Given the description of an element on the screen output the (x, y) to click on. 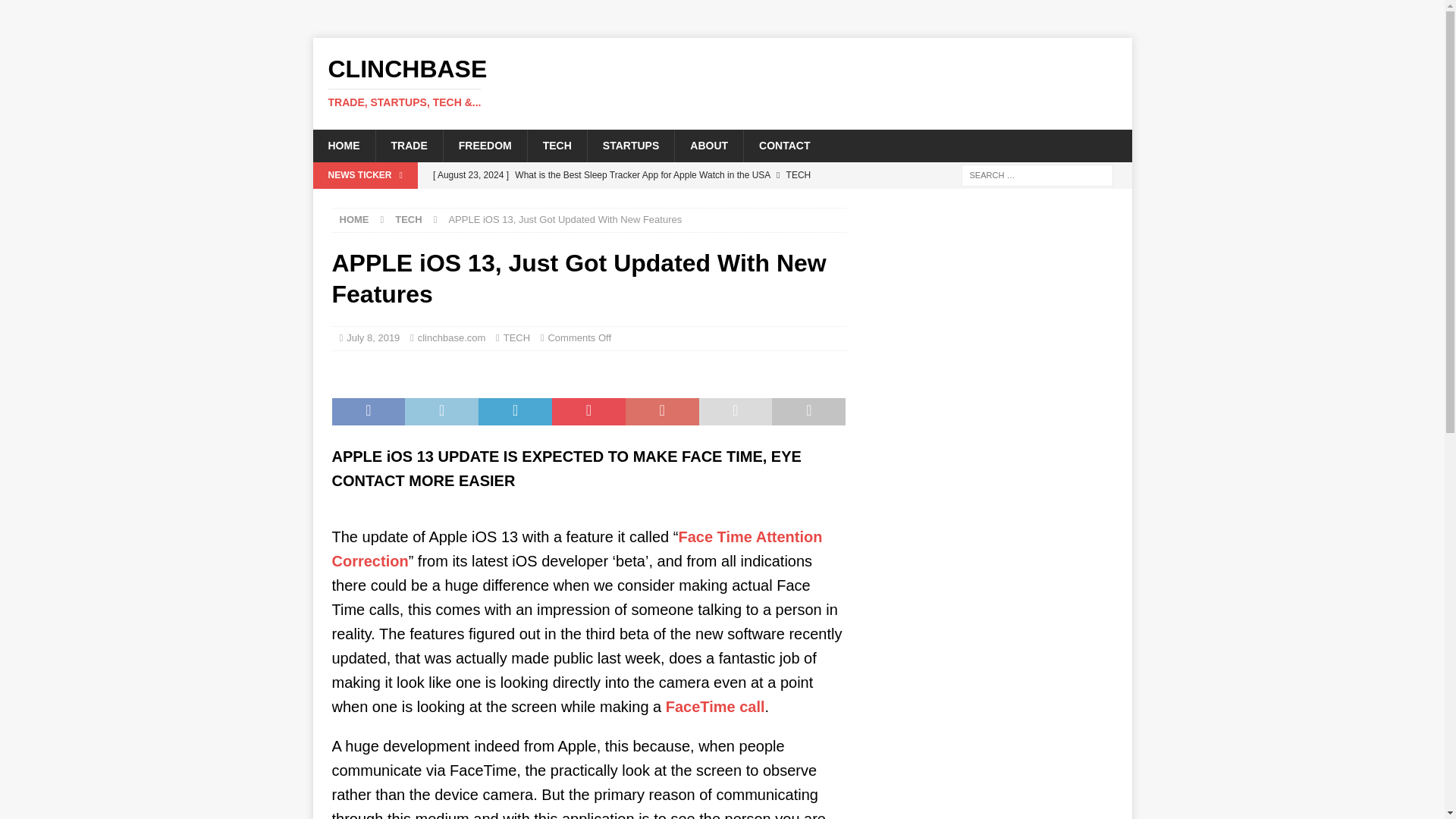
TECH (516, 337)
Search (56, 11)
CONTACT (783, 145)
TRADE (408, 145)
July 8, 2019 (372, 337)
FaceTime call (715, 706)
TECH (556, 145)
HOME (354, 219)
FREEDOM (484, 145)
HOME (343, 145)
